Given the description of an element on the screen output the (x, y) to click on. 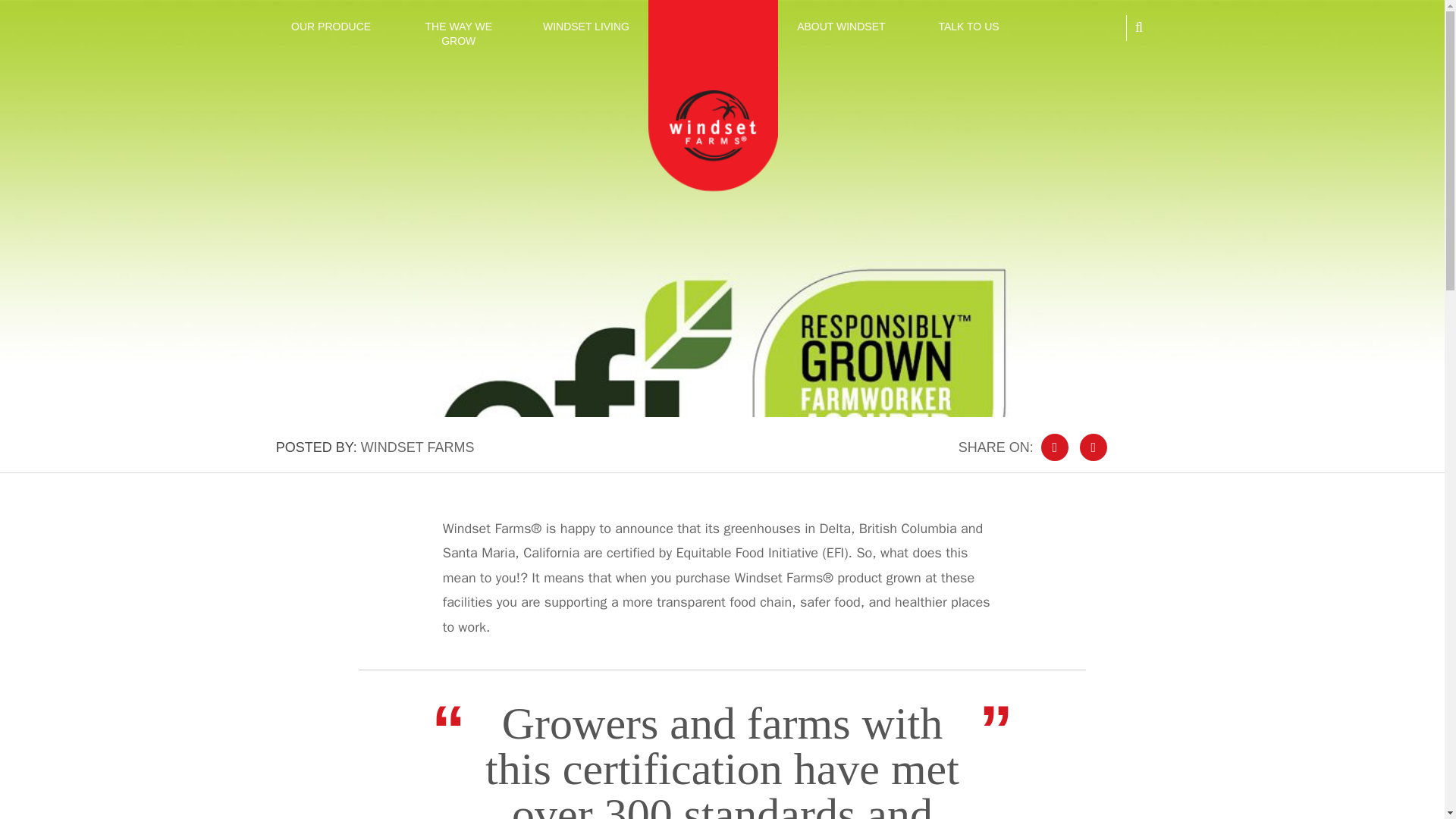
OUR PRODUCE (330, 26)
TALK TO US (967, 26)
FRESH THINKING (713, 26)
WINDSET LIVING (586, 26)
THE WAY WE GROW (458, 34)
Search (1123, 60)
ABOUT WINDSET (840, 26)
